Given the description of an element on the screen output the (x, y) to click on. 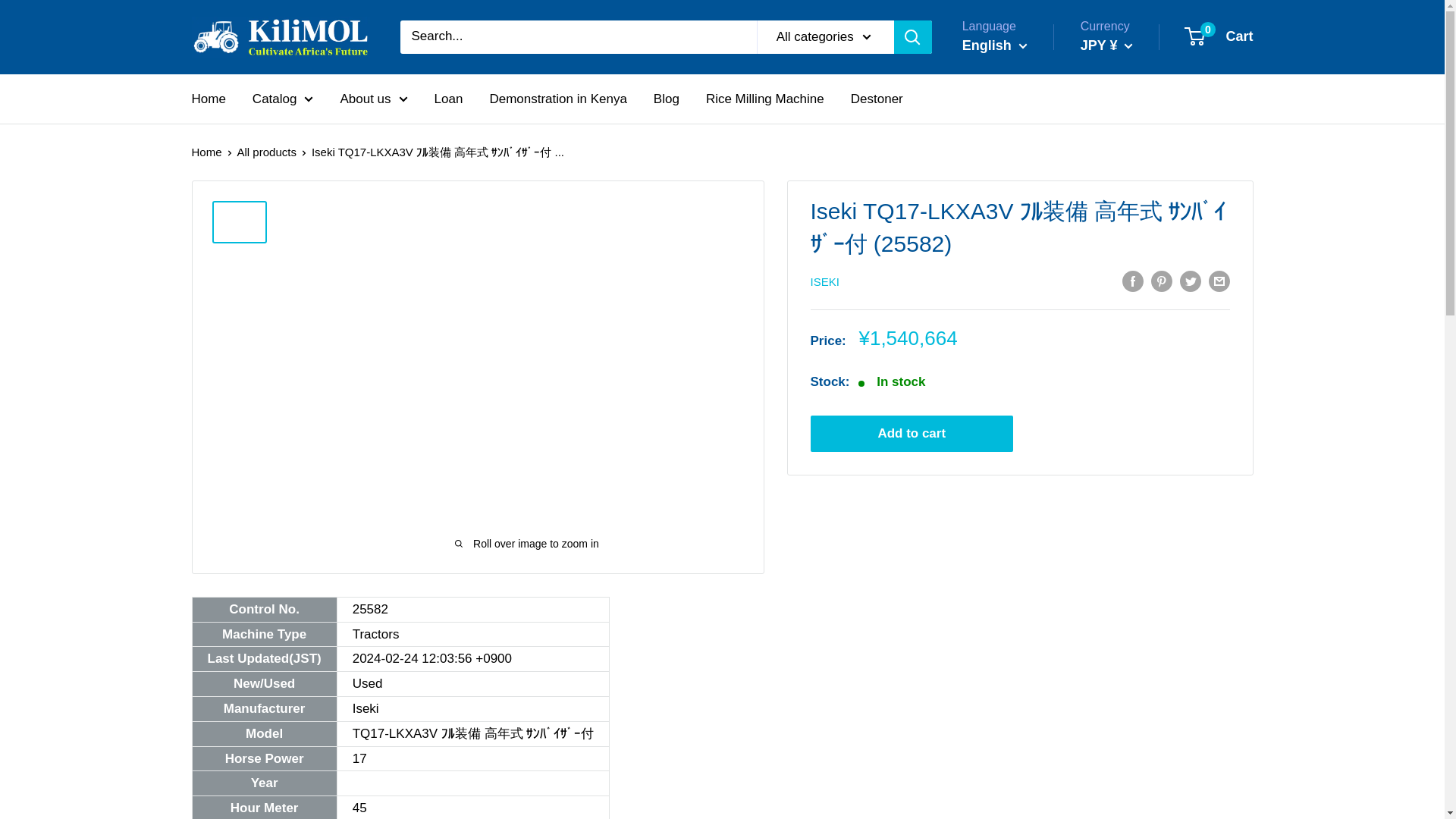
JPY (1128, 90)
KES (1128, 113)
USD (1128, 138)
en (1011, 112)
ja (1219, 36)
English (1011, 88)
